Given the description of an element on the screen output the (x, y) to click on. 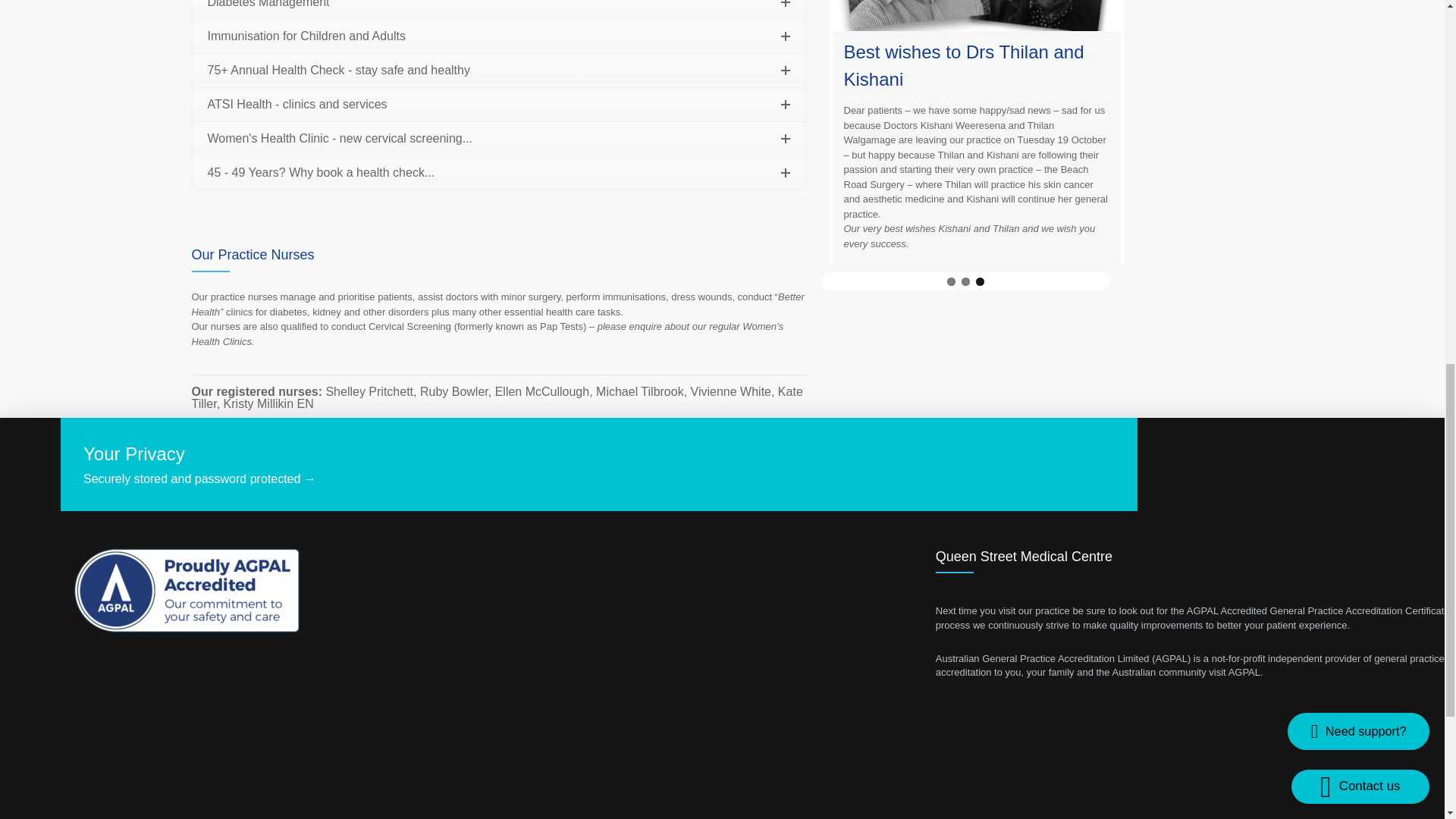
Immunisation for Children and Adults (498, 36)
45 - 49 Years? Why book a health check... (498, 172)
Women's Health Clinic - new cervical screening... (498, 138)
ATSI Health - clinics and services (498, 104)
Permalink to Best wishes to Drs Thilan and Kishani (976, 15)
Permalink to Best wishes to Drs Thilan and Kishani (963, 65)
Diabetes Management (498, 9)
